Given the description of an element on the screen output the (x, y) to click on. 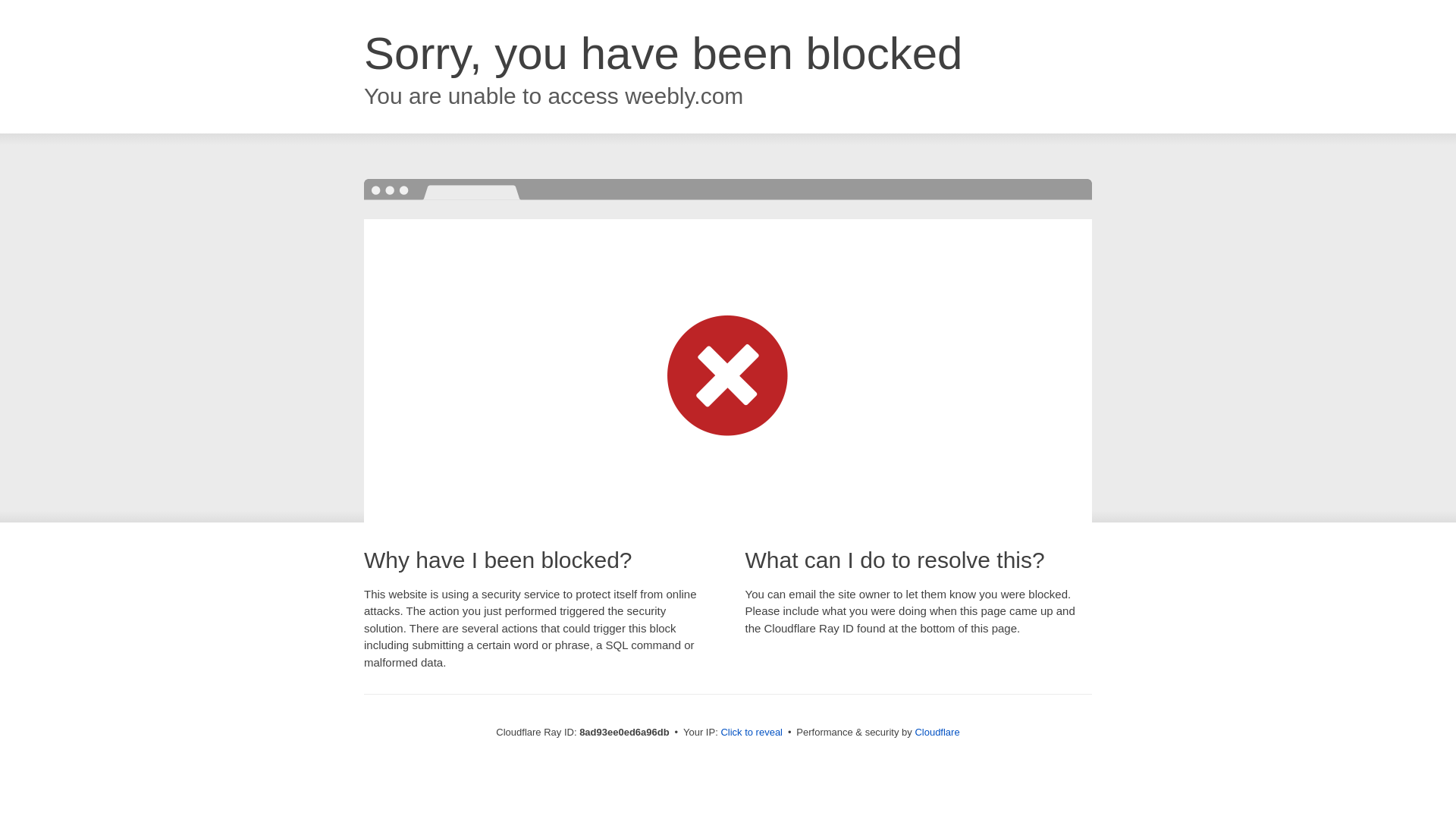
Click to reveal (751, 732)
Cloudflare (936, 731)
